Given the description of an element on the screen output the (x, y) to click on. 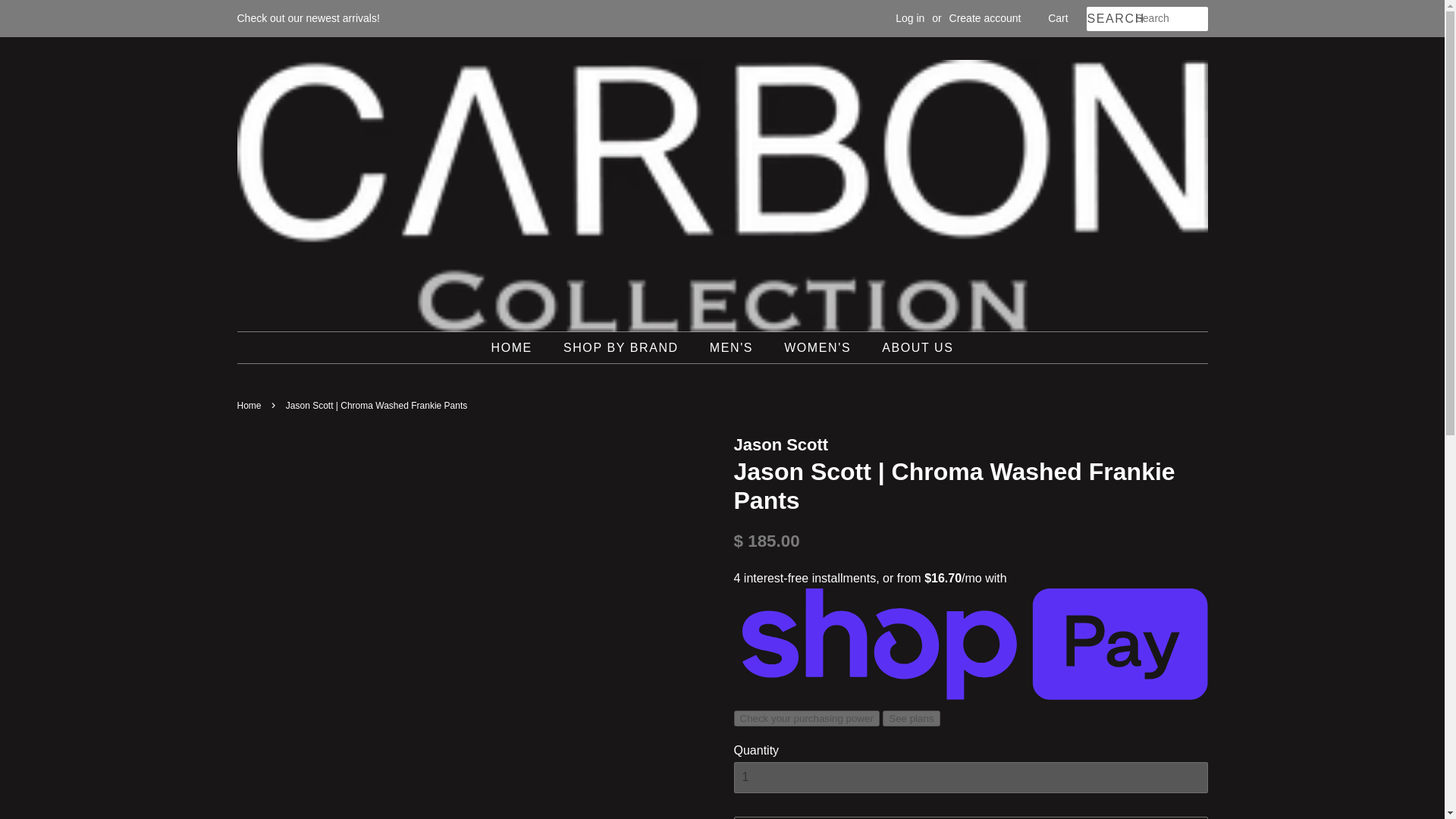
1 (970, 777)
Cart (1057, 18)
Create account (985, 18)
Log in (909, 18)
Check out our newest arrivals! (306, 18)
Back to the frontpage (249, 405)
SEARCH (1110, 18)
